Given the description of an element on the screen output the (x, y) to click on. 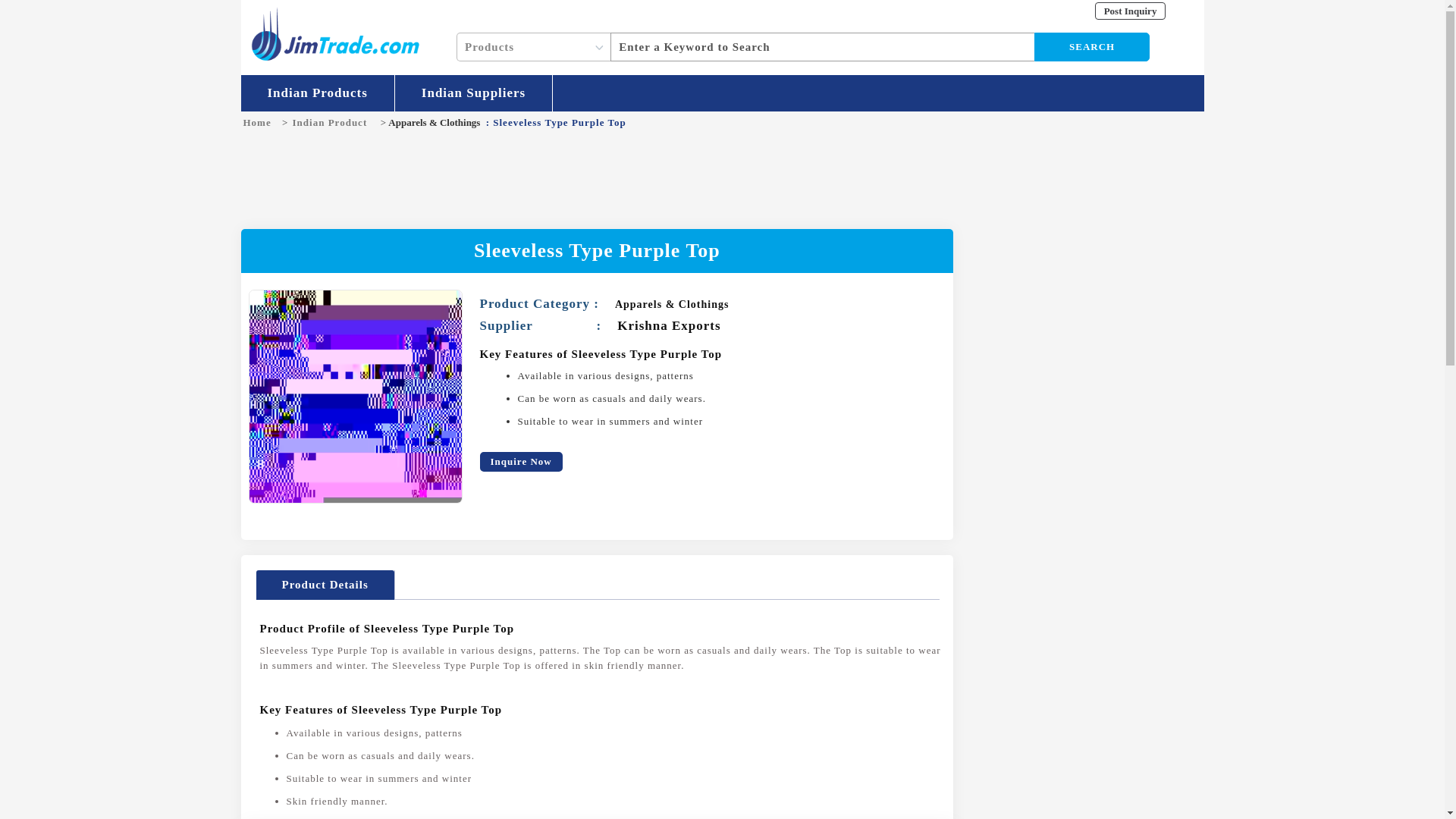
Product Details (325, 584)
JimTrade.com - Sleeveless Type Purple Top (334, 35)
Post Inquiry (1130, 10)
Indian Product (332, 122)
Krishna Exports (668, 325)
Sleeveless Type Purple Top (355, 396)
Advertisement (721, 179)
SEARCH (1091, 46)
Inquire Now (520, 462)
: Sleeveless Type Purple Top (556, 122)
Get Quotations (1130, 10)
Home (260, 122)
